Given the description of an element on the screen output the (x, y) to click on. 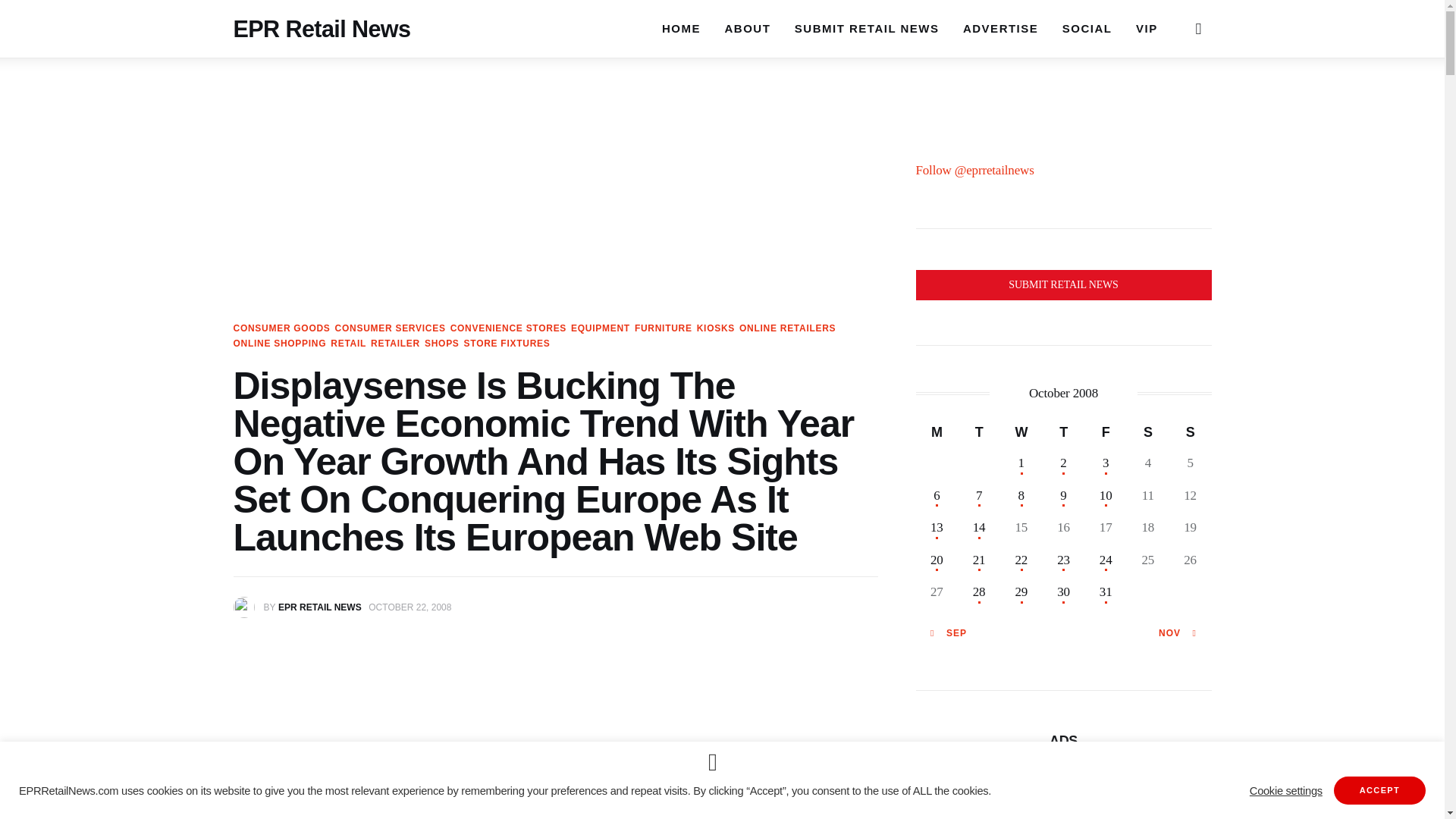
EPR Retail News (321, 23)
Wednesday (1021, 431)
Tuesday (979, 431)
SUBMIT RETAIL NEWS (866, 28)
SOCIAL (1086, 28)
Advertisement (554, 738)
ABOUT (748, 28)
Advertisement (1063, 804)
VIP (1146, 28)
Sunday (1190, 431)
ADVERTISE (999, 28)
HOME (681, 26)
Submit Retail News (1063, 285)
Monday (936, 431)
